Given the description of an element on the screen output the (x, y) to click on. 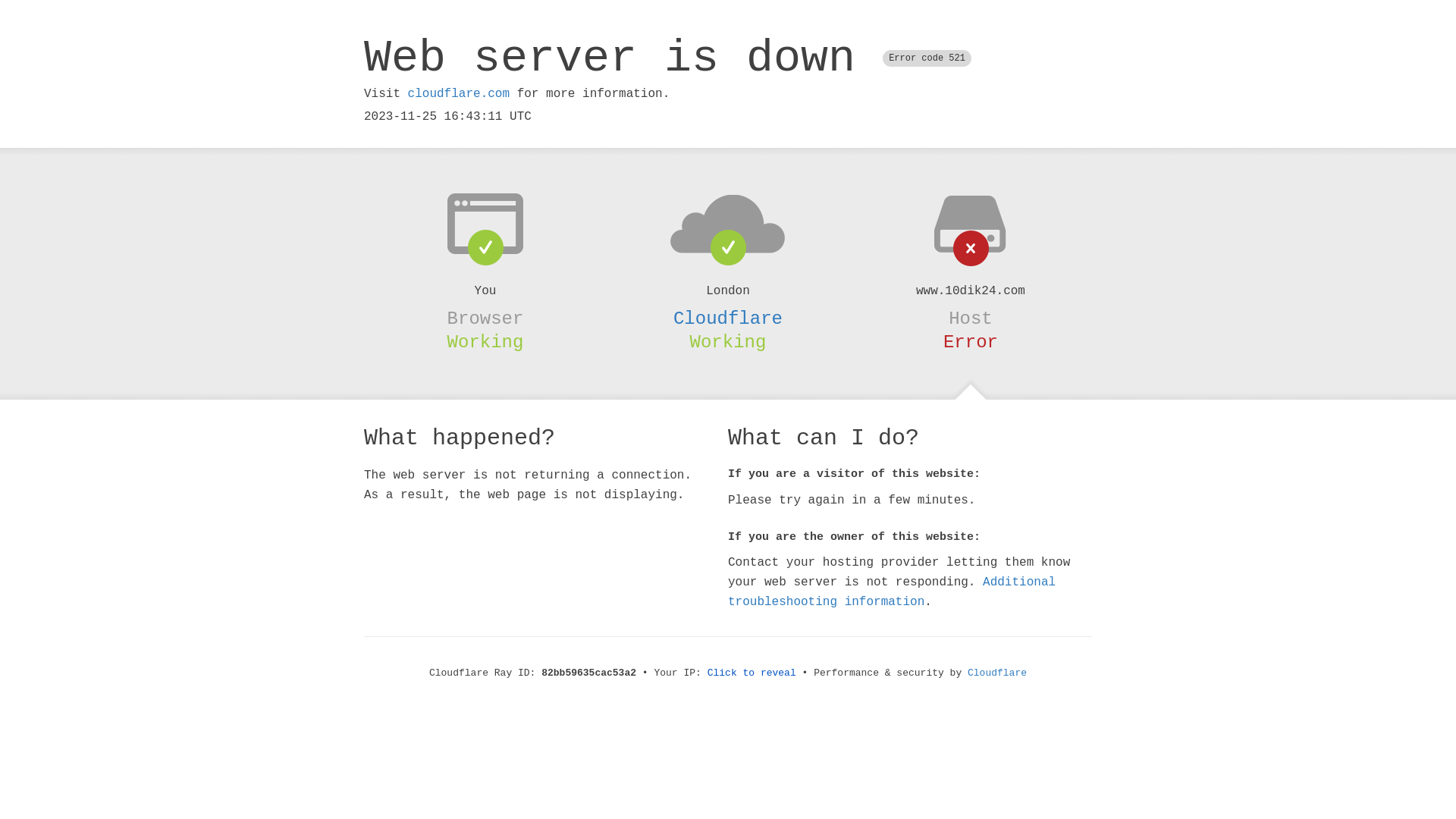
Additional troubleshooting information Element type: text (891, 591)
Click to reveal Element type: text (751, 672)
Cloudflare Element type: text (996, 672)
cloudflare.com Element type: text (458, 93)
Cloudflare Element type: text (727, 318)
